Given the description of an element on the screen output the (x, y) to click on. 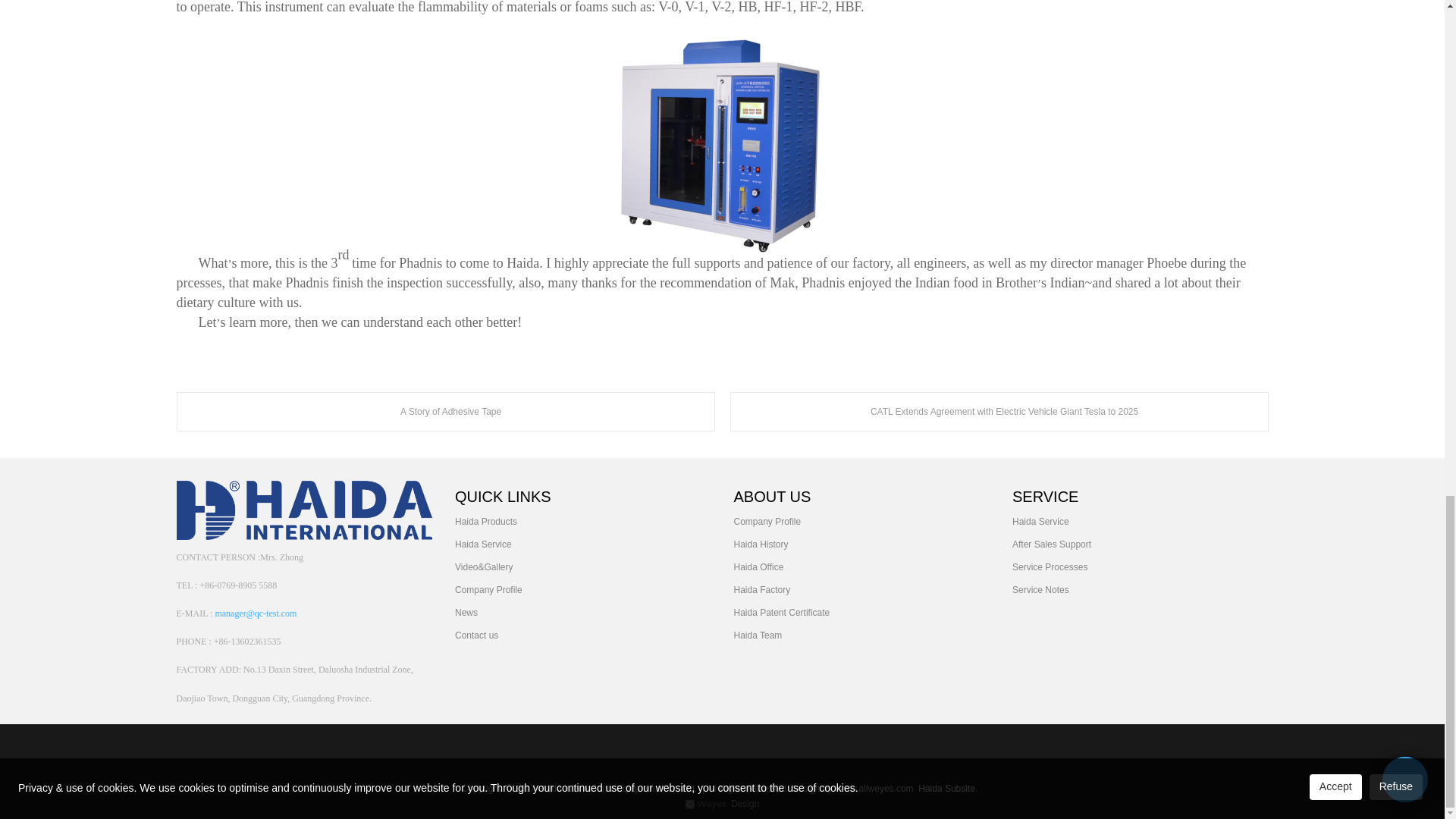
A Story of Adhesive Tape (445, 411)
